Given the description of an element on the screen output the (x, y) to click on. 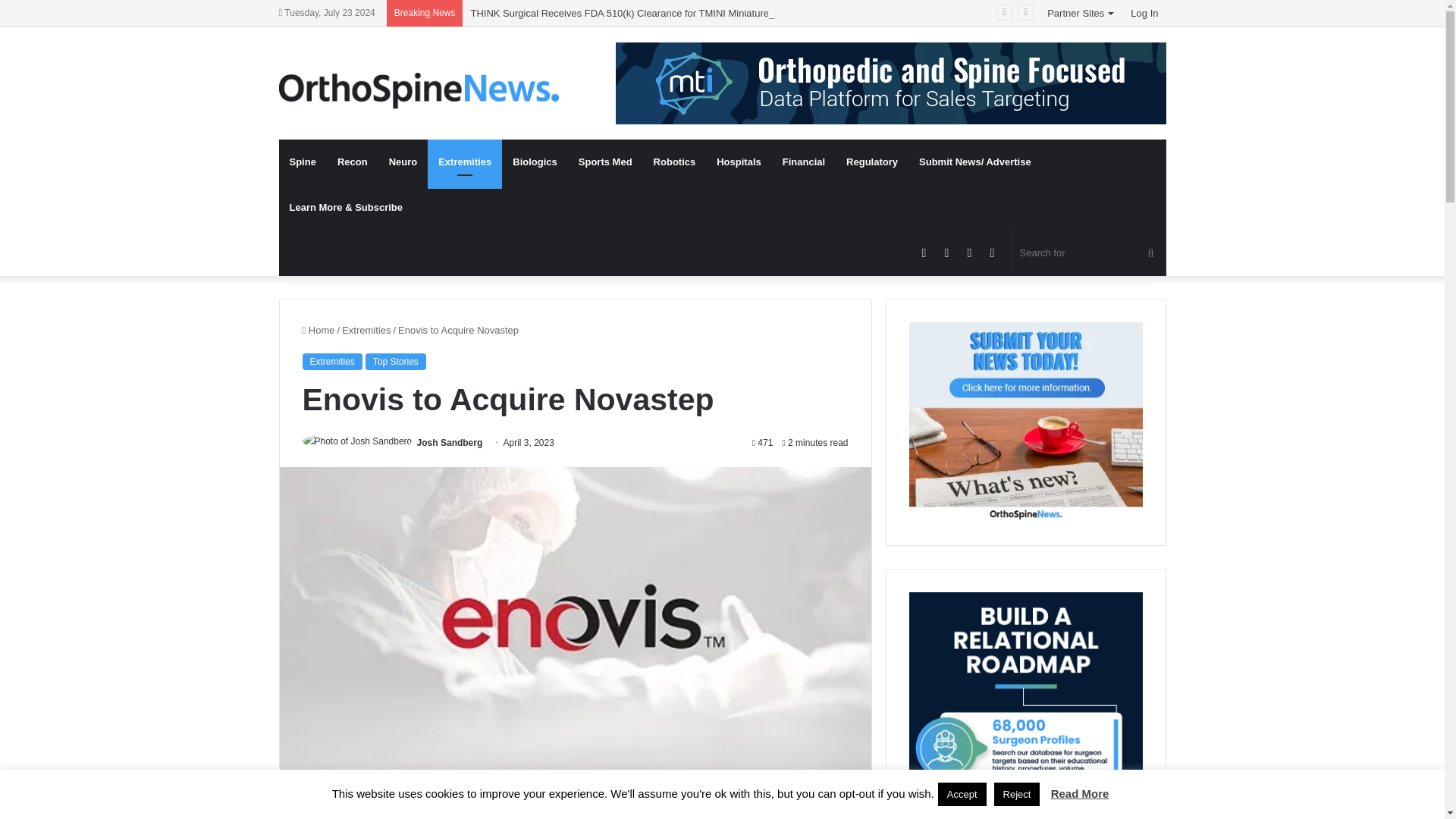
Home (317, 329)
Regulatory (871, 162)
Partner Sites (1080, 13)
Sports Med (605, 162)
Josh Sandberg (449, 442)
Ortho Spine News (419, 90)
Neuro (403, 162)
Biologics (534, 162)
Financial (803, 162)
Top Stories (395, 361)
Search for (1088, 253)
Josh Sandberg (449, 442)
Extremities (331, 361)
Extremities (366, 329)
Hospitals (738, 162)
